Given the description of an element on the screen output the (x, y) to click on. 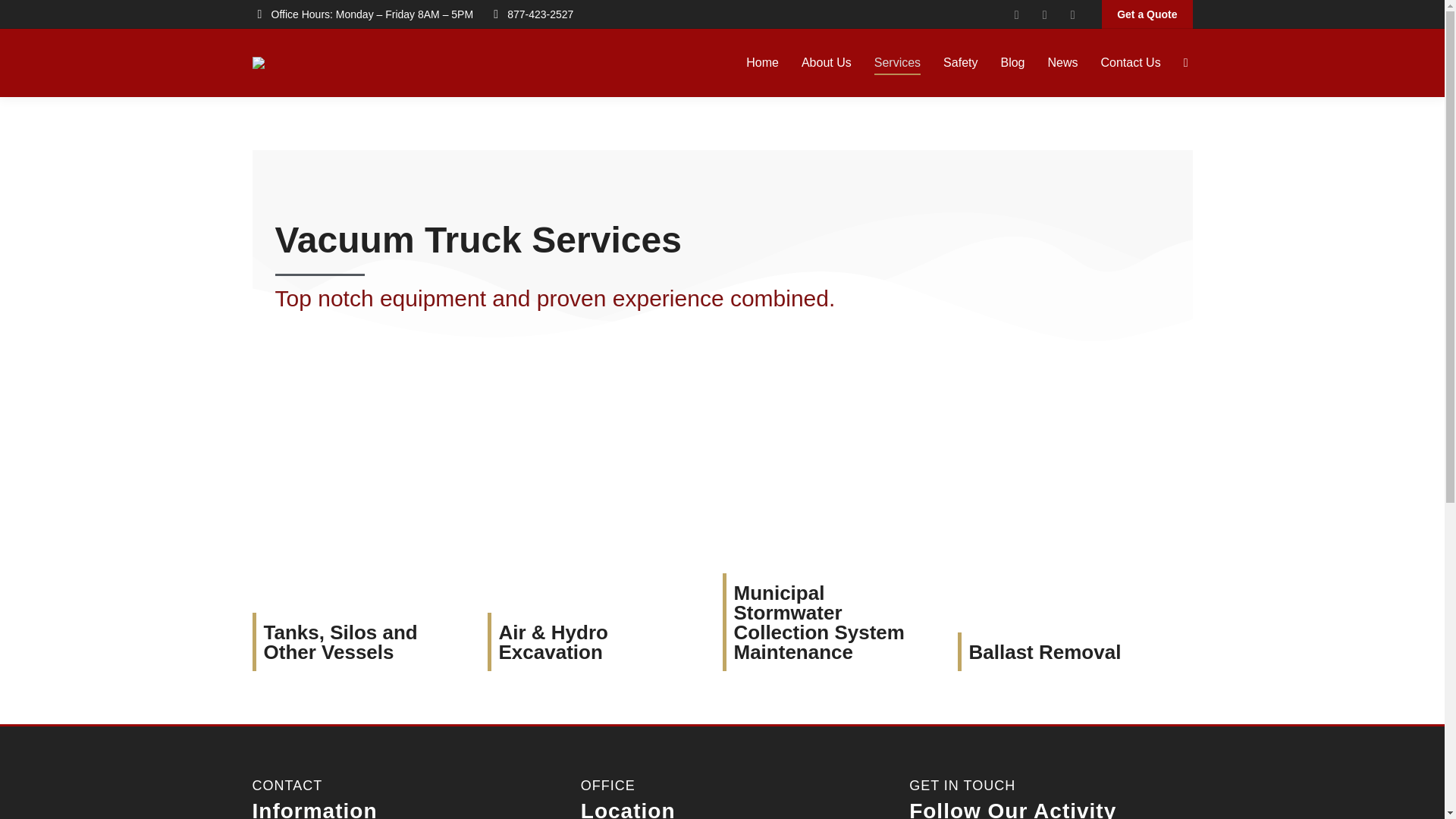
Get a Quote (1147, 14)
Ballast Removal (1045, 650)
Tanks, Silos and Other Vessels (340, 640)
X page opens in new window (1072, 13)
Facebook page opens in new window (1016, 13)
YouTube page opens in new window (1044, 13)
Municipal Stormwater Collection System Maintenance (818, 621)
Go! (24, 16)
877-423-2527 (530, 14)
